Given the description of an element on the screen output the (x, y) to click on. 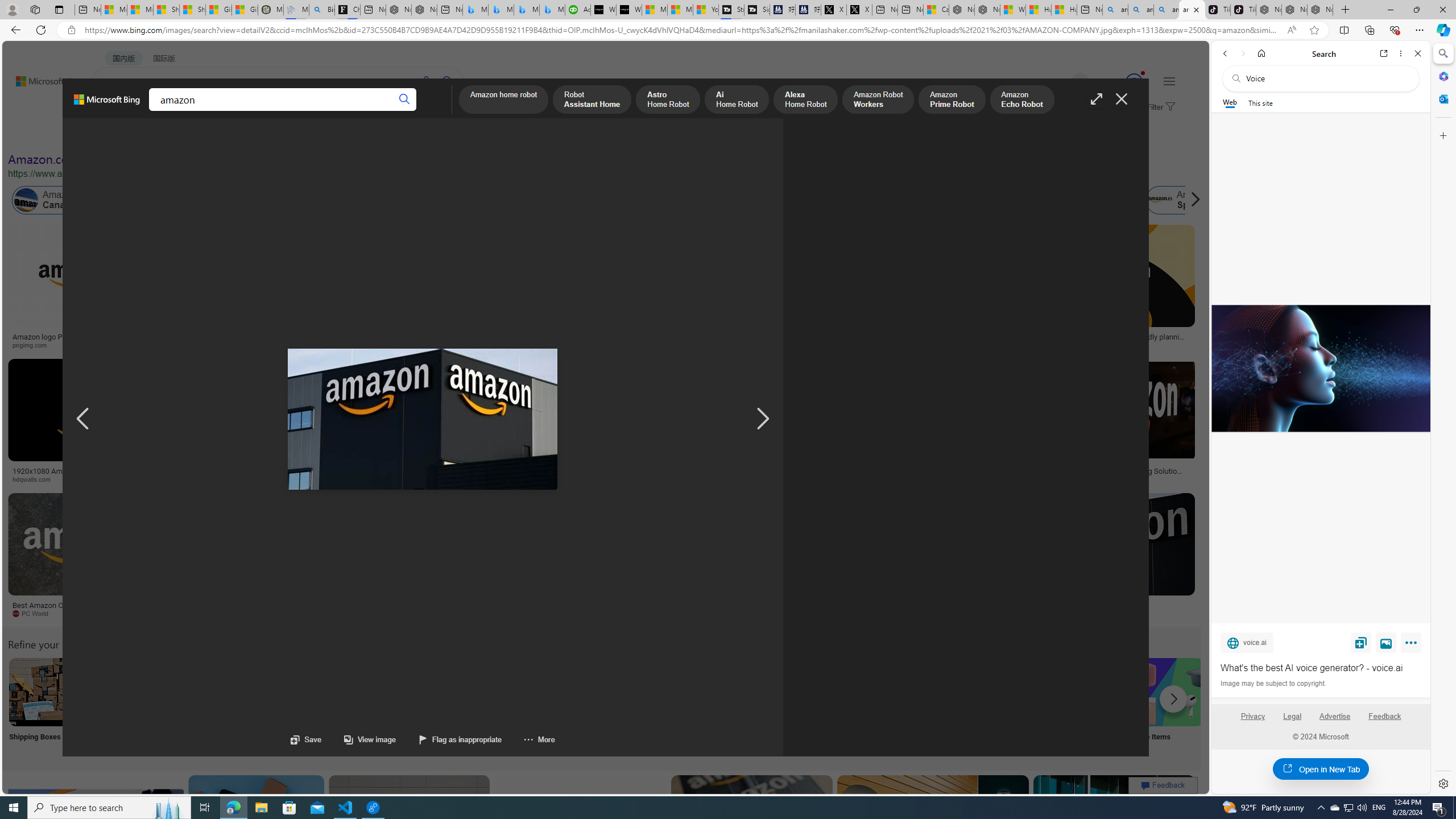
Advertise (1335, 715)
Filter (1158, 107)
Open in New Tab (1321, 768)
Amazon Prime Membership (753, 200)
Color (173, 135)
Refresh (40, 29)
Amazon Kids (263, 199)
Prime Shopping Online (944, 706)
Amazon Echo Robot (1022, 100)
Package Delivery (418, 706)
People (295, 135)
Amazon Prime Shopping Online (944, 691)
logopng.com.br (764, 344)
